Given the description of an element on the screen output the (x, y) to click on. 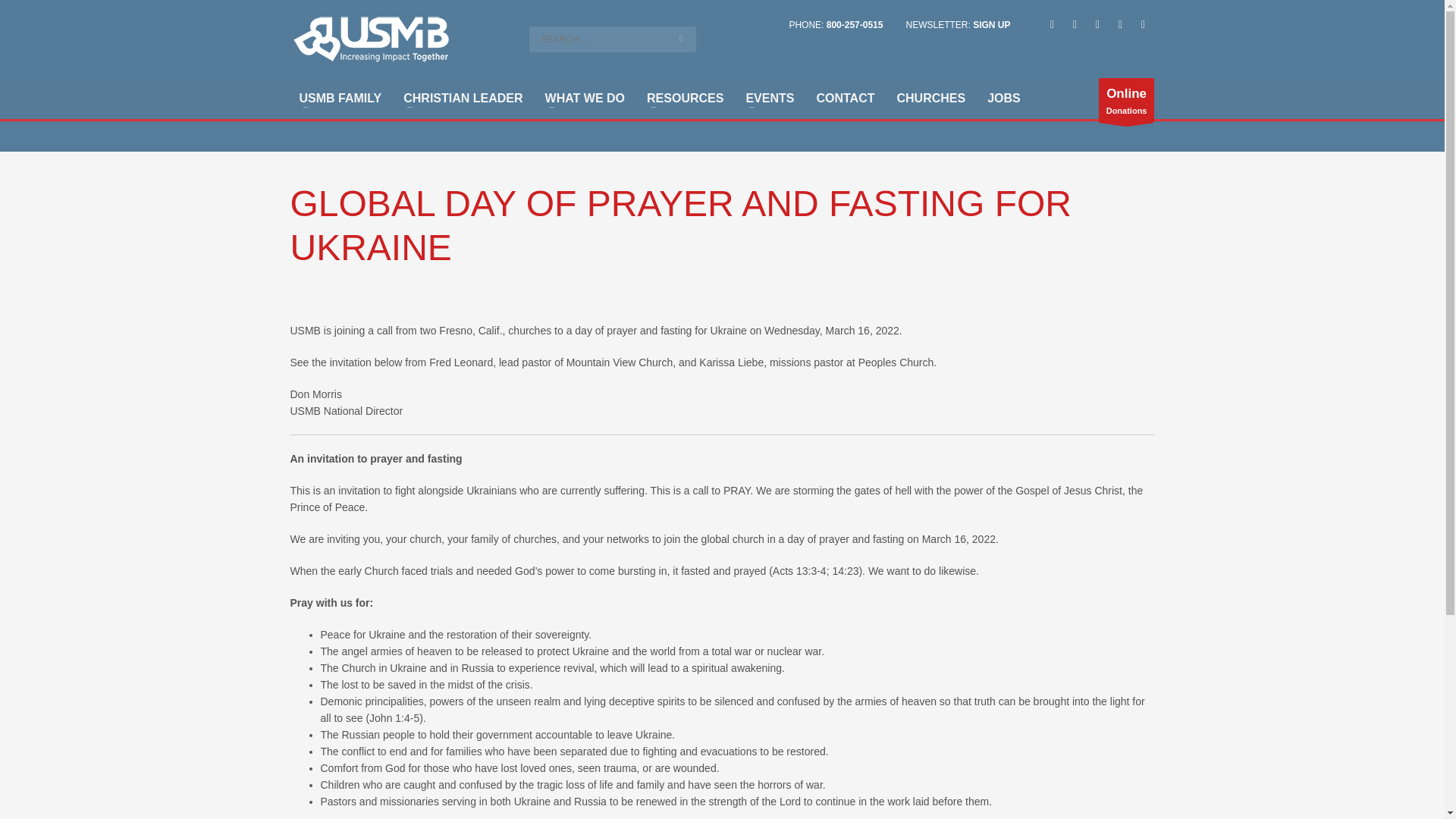
USMB FAMILY (339, 98)
SIGN UP (991, 24)
go (680, 38)
Increasing Impact Together (370, 38)
Facebook (1051, 24)
Instagram (1097, 24)
Twitter (1074, 24)
YouTube (1119, 24)
Flickr (1142, 24)
800-257-0515 (855, 24)
